Given the description of an element on the screen output the (x, y) to click on. 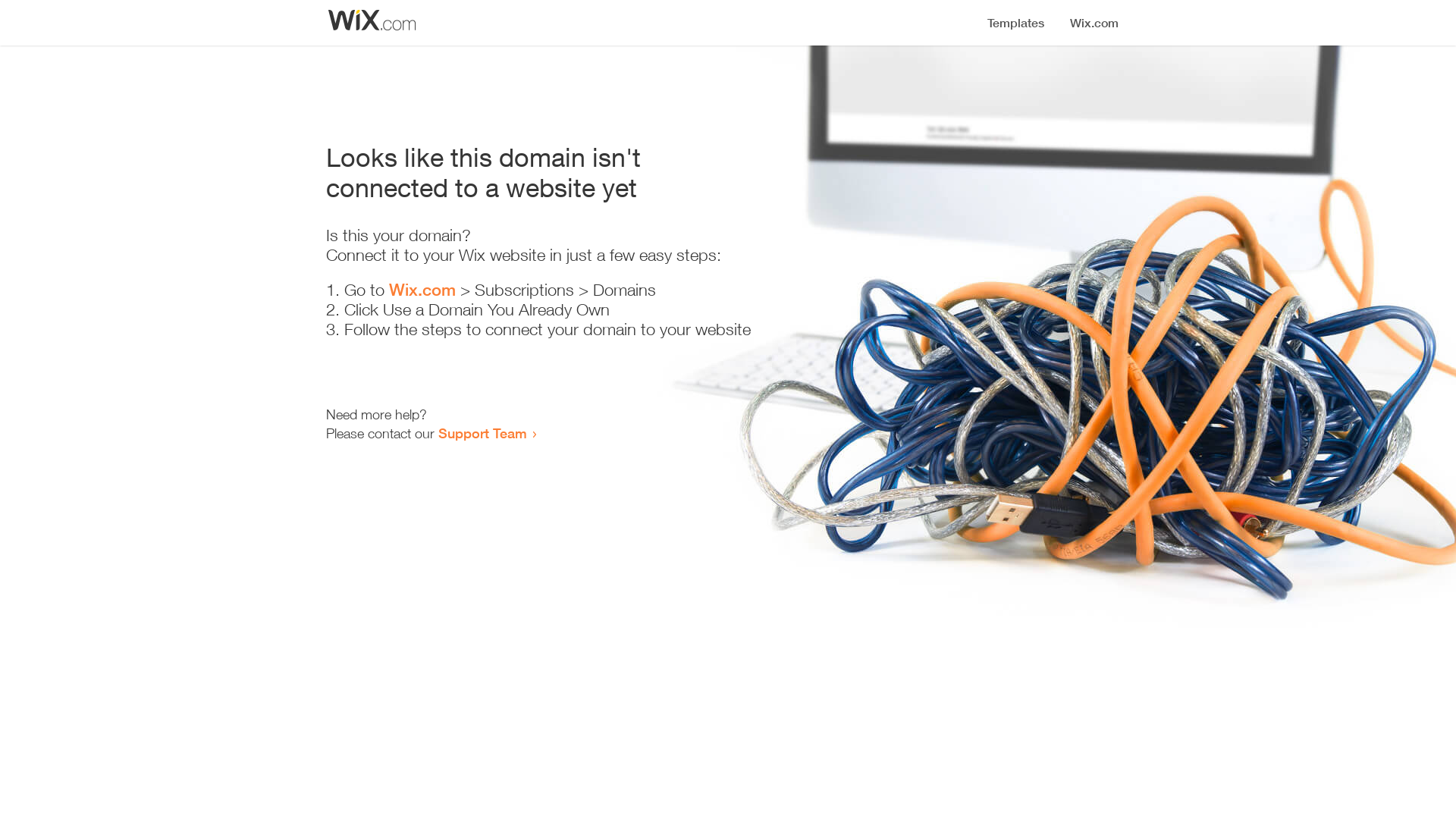
Support Team Element type: text (482, 432)
Wix.com Element type: text (422, 289)
